Given the description of an element on the screen output the (x, y) to click on. 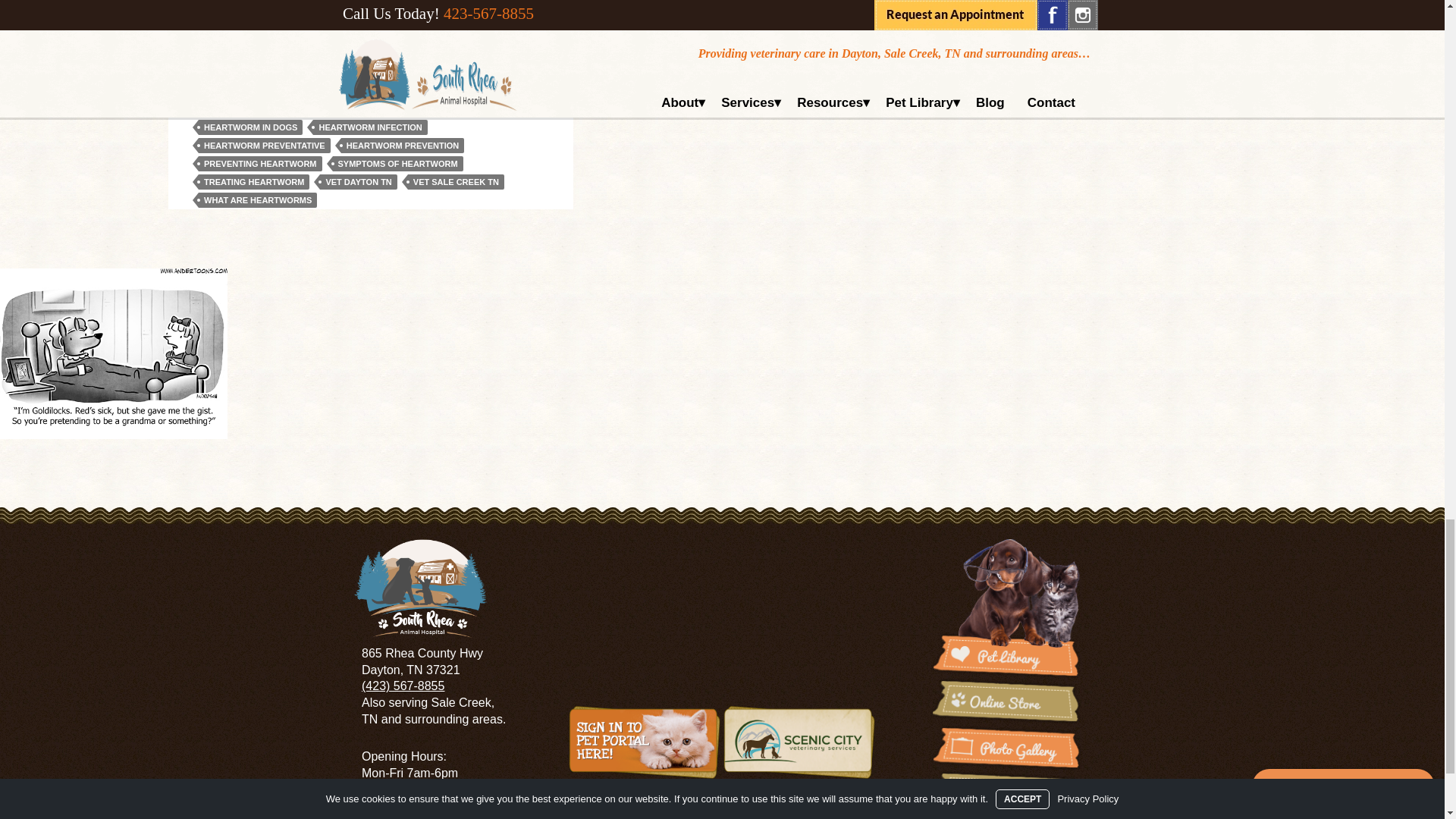
Our Blog (1005, 793)
Photo Gallery (1005, 747)
Pet Library (1005, 608)
Scenic City Veterinary Services (799, 741)
South Rhea Animal Hospital Home (420, 588)
Online Store (1005, 701)
Sign in to Pet Portal here! (644, 741)
